Given the description of an element on the screen output the (x, y) to click on. 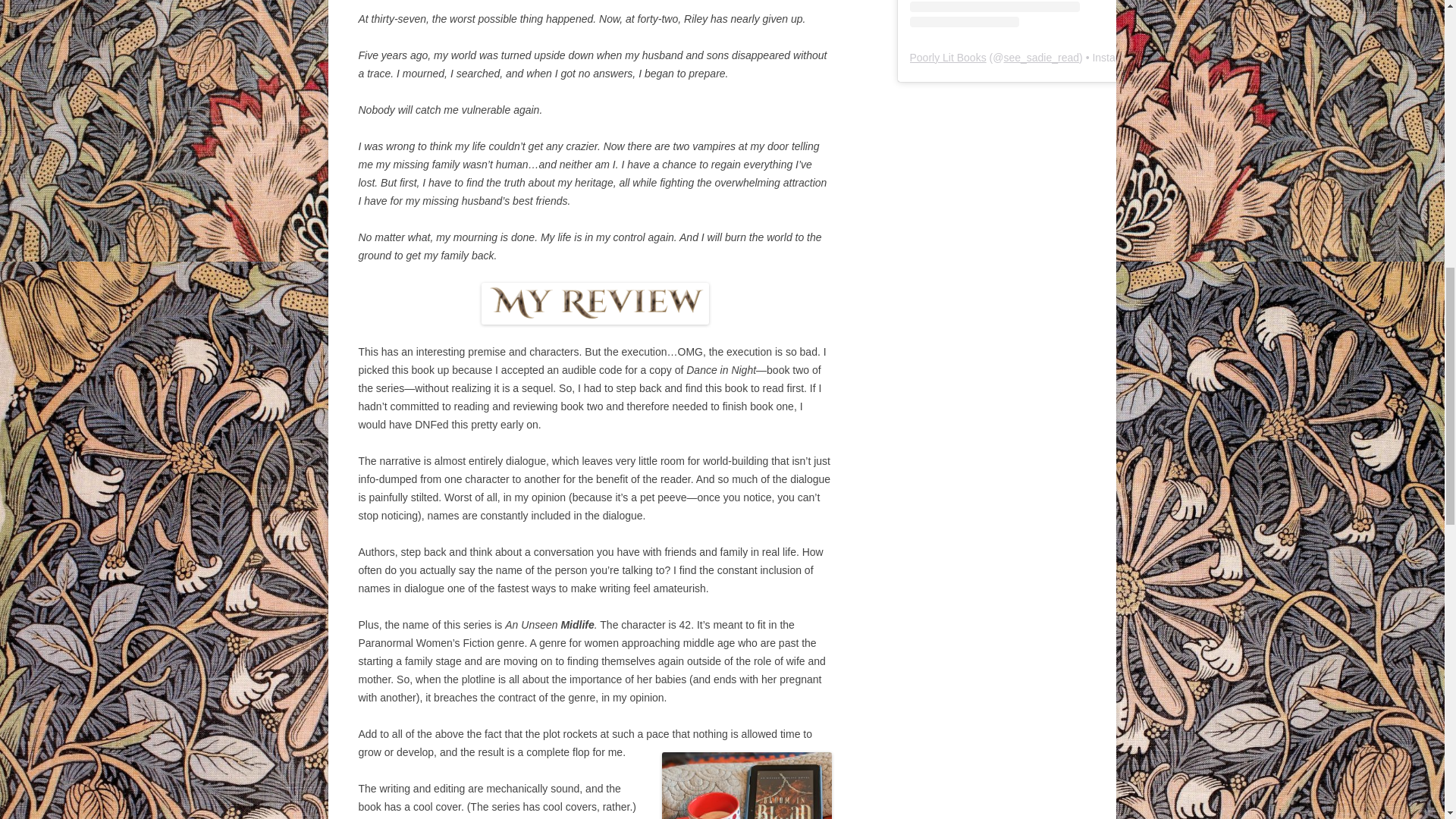
View this profile on Instagram (1021, 13)
Poorly Lit Books (948, 57)
